Given the description of an element on the screen output the (x, y) to click on. 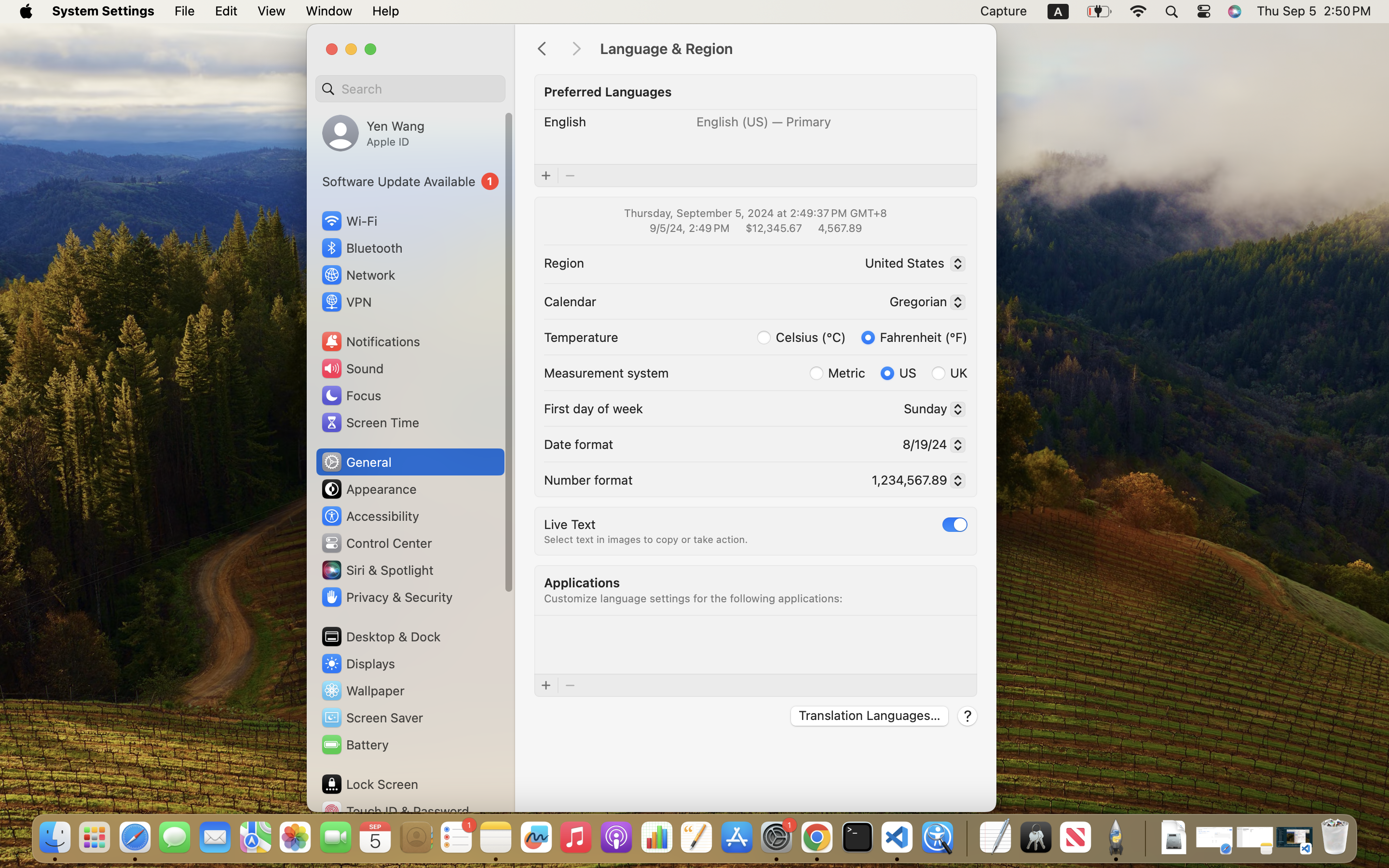
Bluetooth Element type: AXStaticText (361, 247)
1 Element type: AXCheckBox (954, 523)
Thursday, September 5, 2024 at 2:49:37 PM GMT+8 Element type: AXStaticText (755, 212)
Yen Wang, Apple ID Element type: AXStaticText (373, 132)
